Given the description of an element on the screen output the (x, y) to click on. 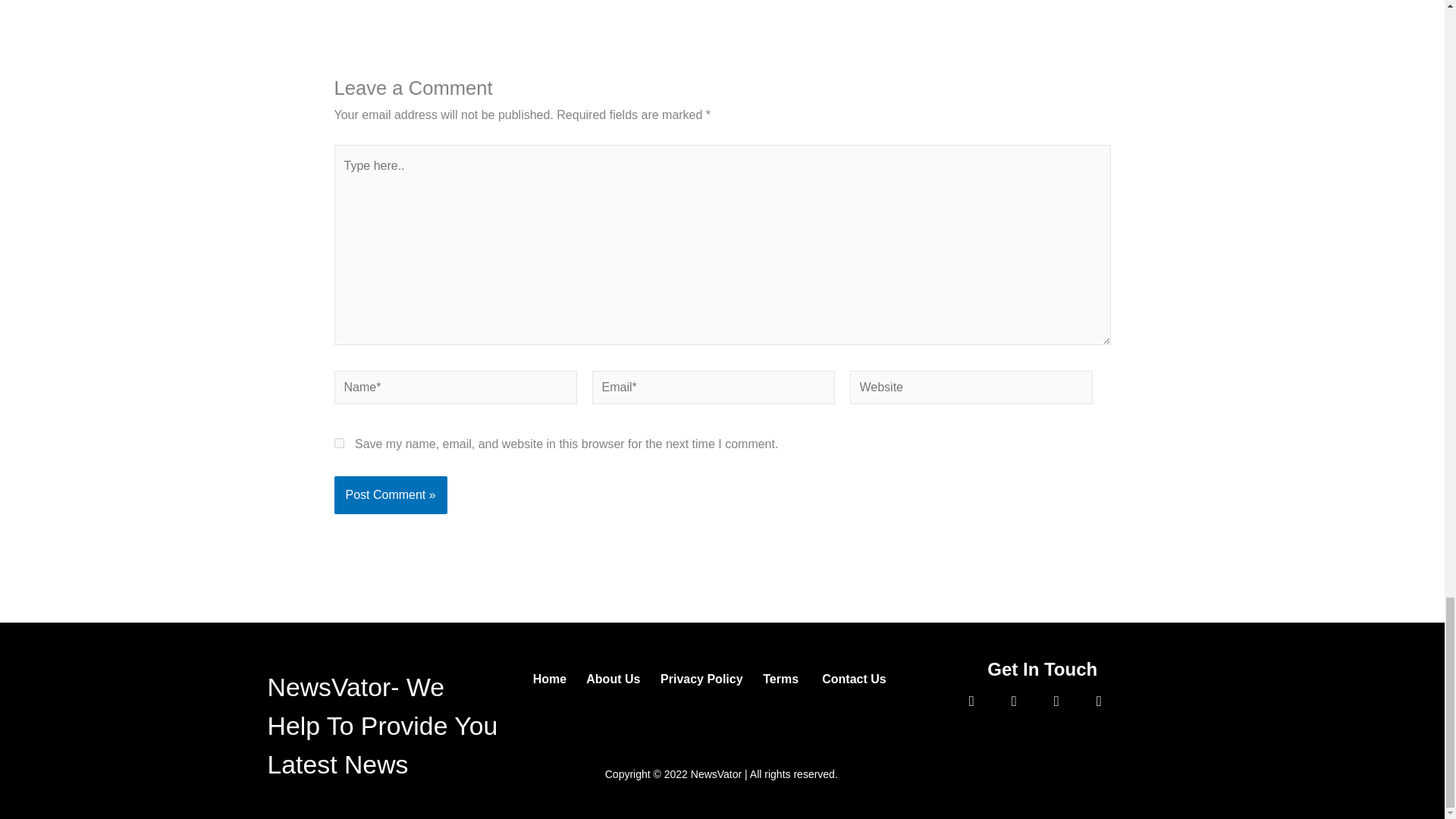
yes (338, 442)
